Given the description of an element on the screen output the (x, y) to click on. 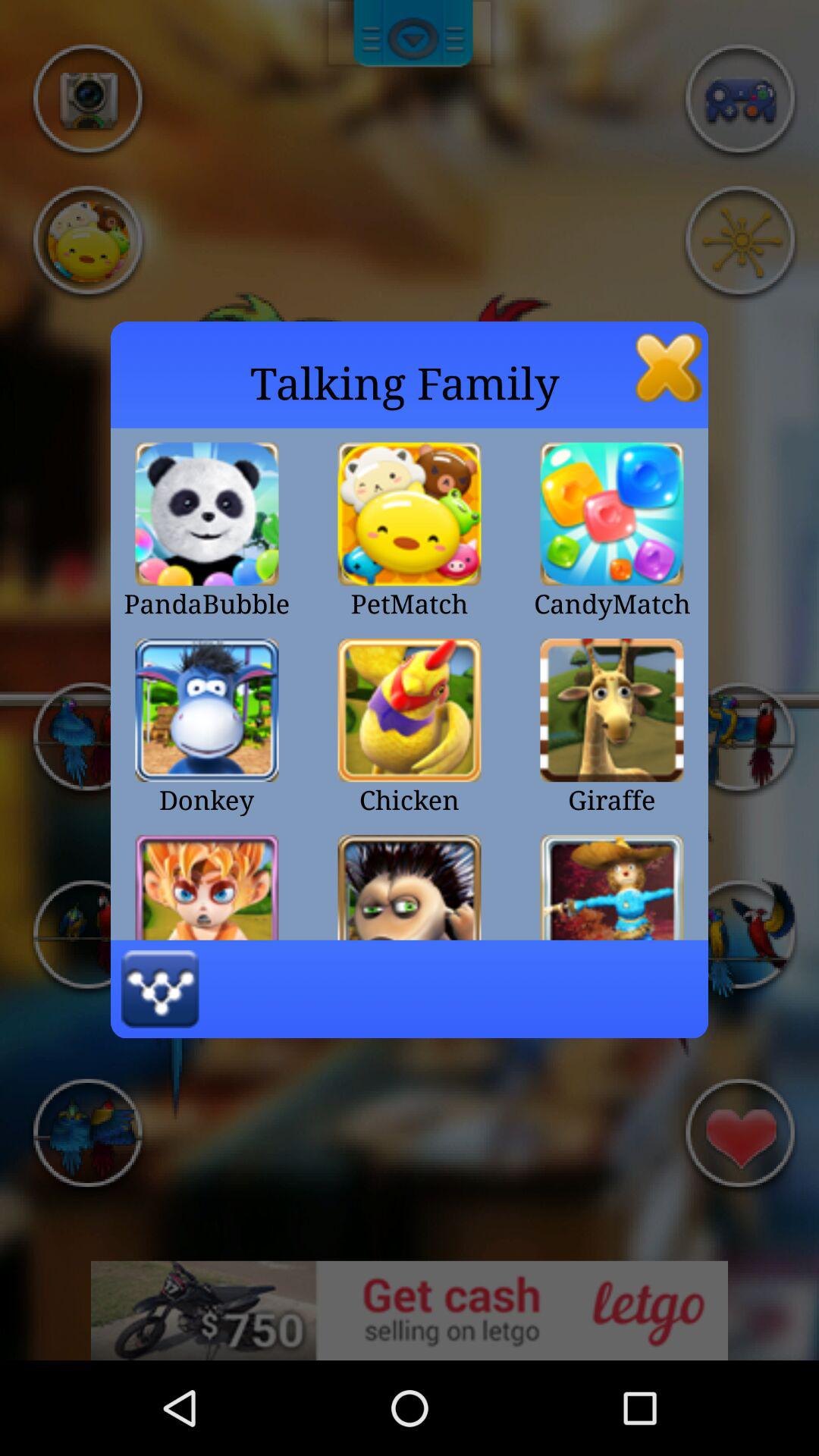
x icon on top right hand side when clicked will exit the current screen (668, 367)
